Given the description of an element on the screen output the (x, y) to click on. 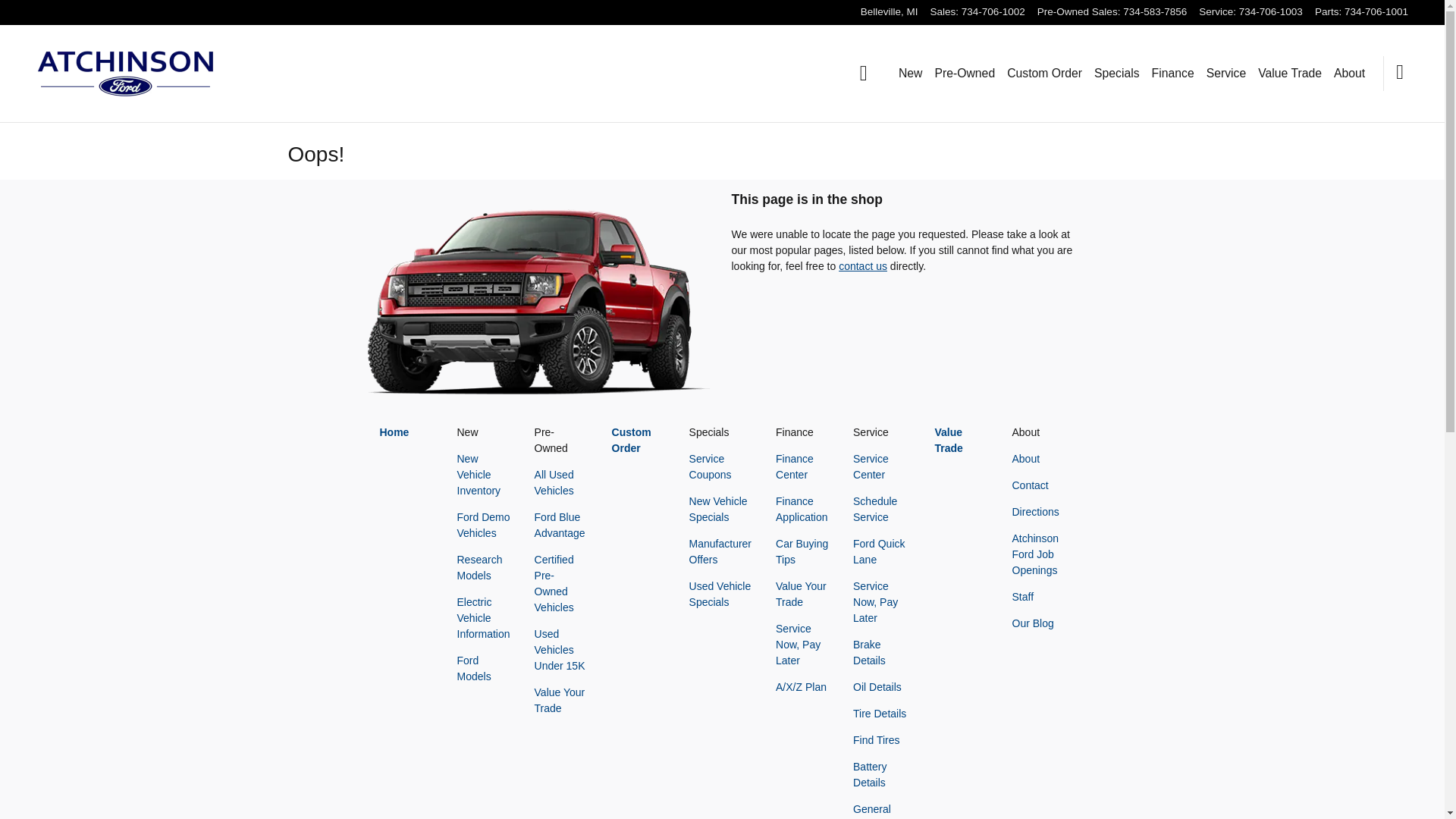
New (910, 73)
Home (863, 73)
Service (1226, 73)
Custom Order (1044, 73)
Finance (1172, 73)
Belleville, MI (889, 11)
Specials (1117, 73)
Pre-Owned (964, 73)
